Given the description of an element on the screen output the (x, y) to click on. 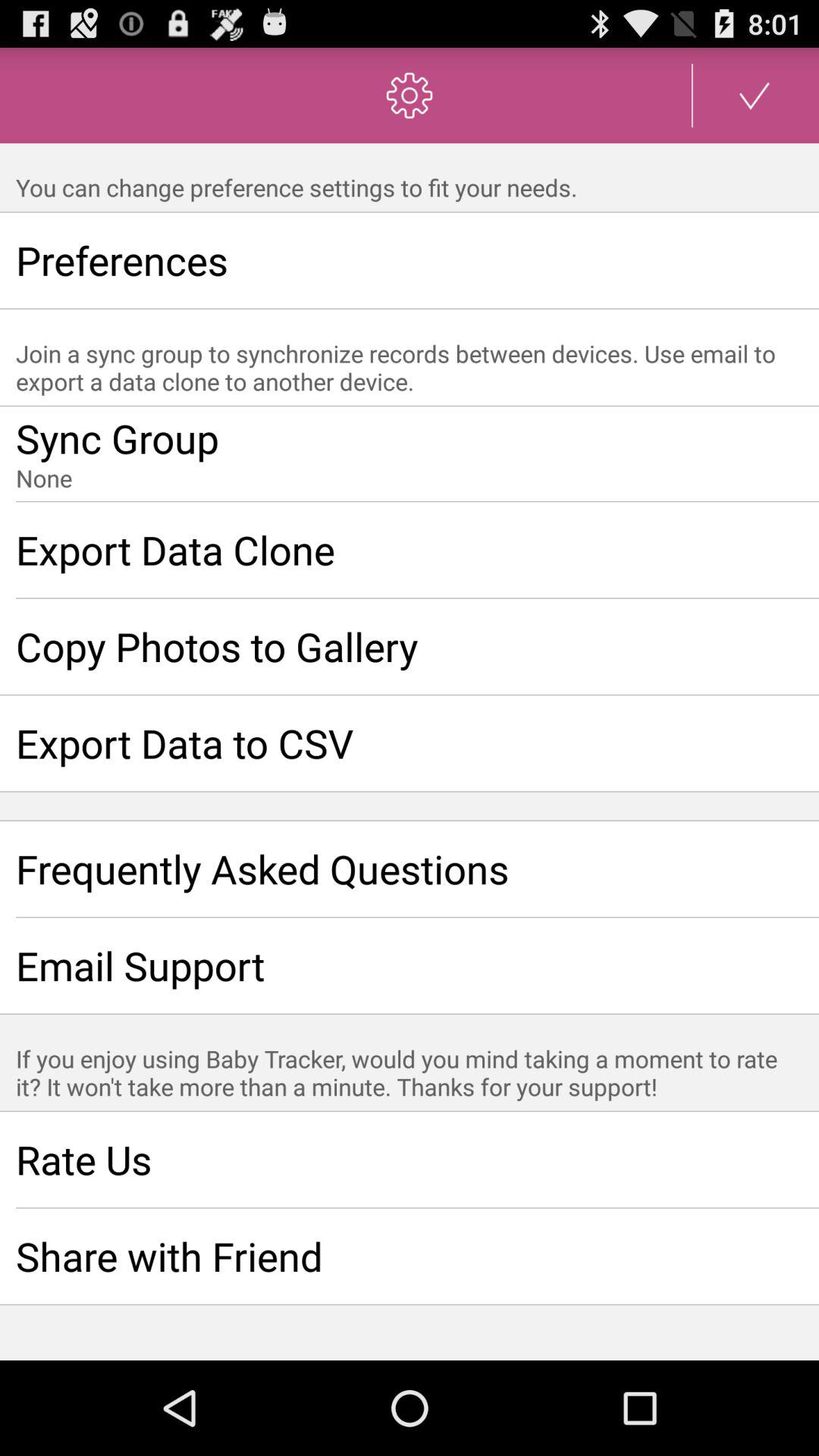
select copy photos to button (409, 646)
